Given the description of an element on the screen output the (x, y) to click on. 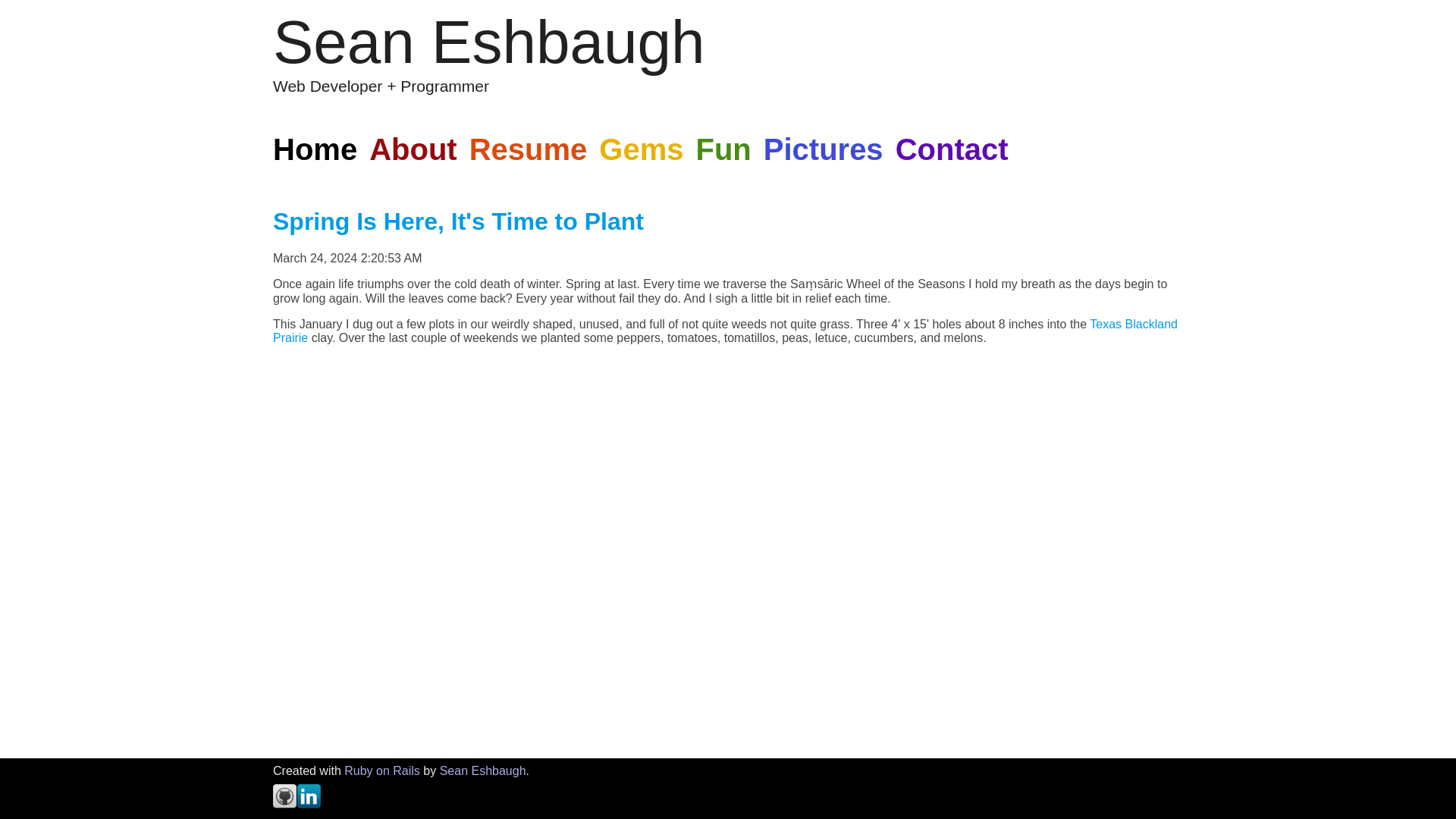
About (412, 148)
Sean Eshbaugh (482, 770)
Ruby on Rails (381, 770)
Pictures (823, 148)
Fun (722, 148)
Texas Blackland Prairie (725, 330)
Resume (528, 148)
Contact (951, 148)
Spring Is Here, It's Time to Plant (458, 221)
Home (317, 148)
